Given the description of an element on the screen output the (x, y) to click on. 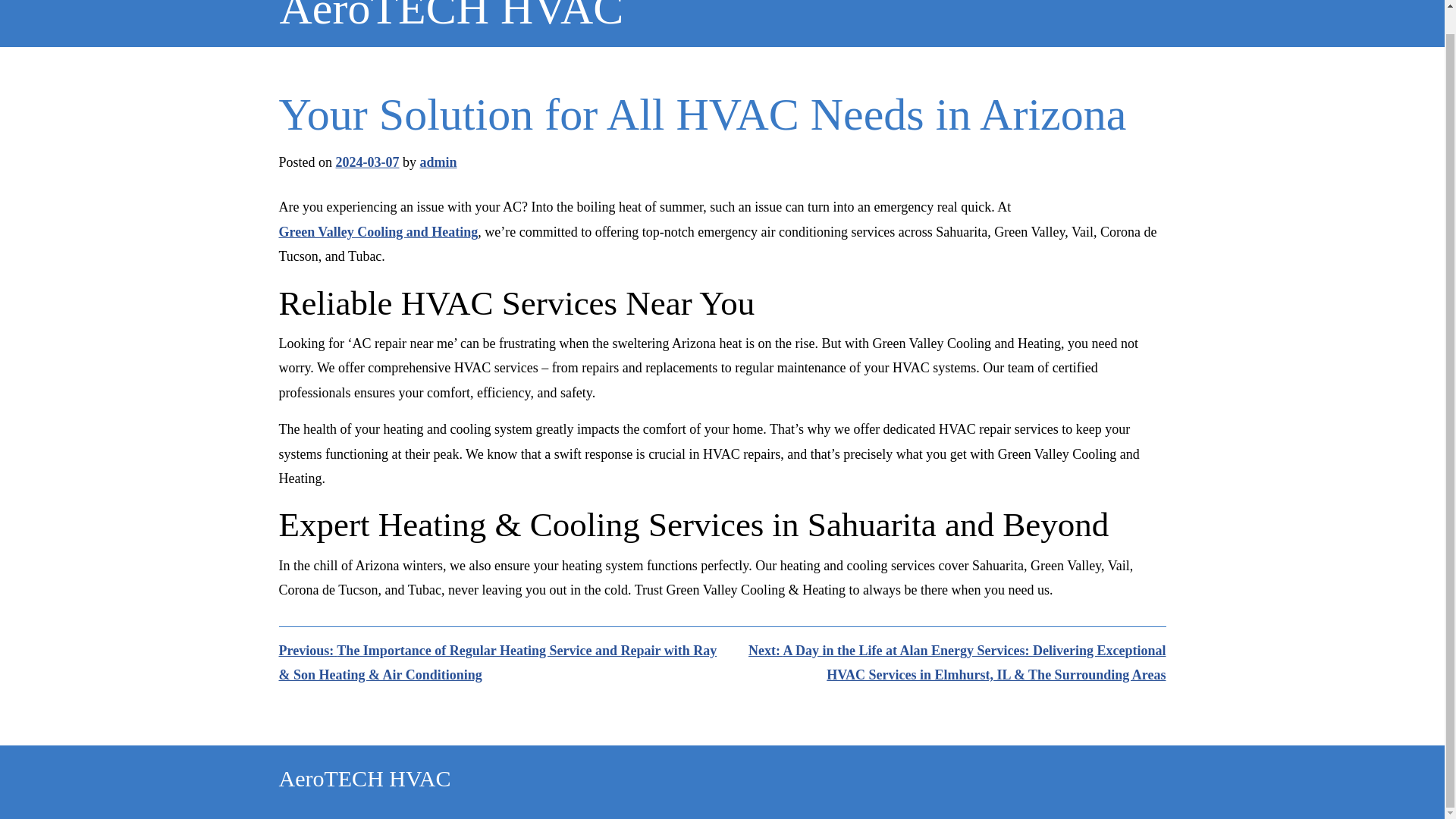
2024-03-07 (367, 161)
admin (438, 161)
AeroTECH HVAC (451, 18)
Green Valley Cooling and Heating (379, 232)
AeroTECH HVAC (365, 778)
